Given the description of an element on the screen output the (x, y) to click on. 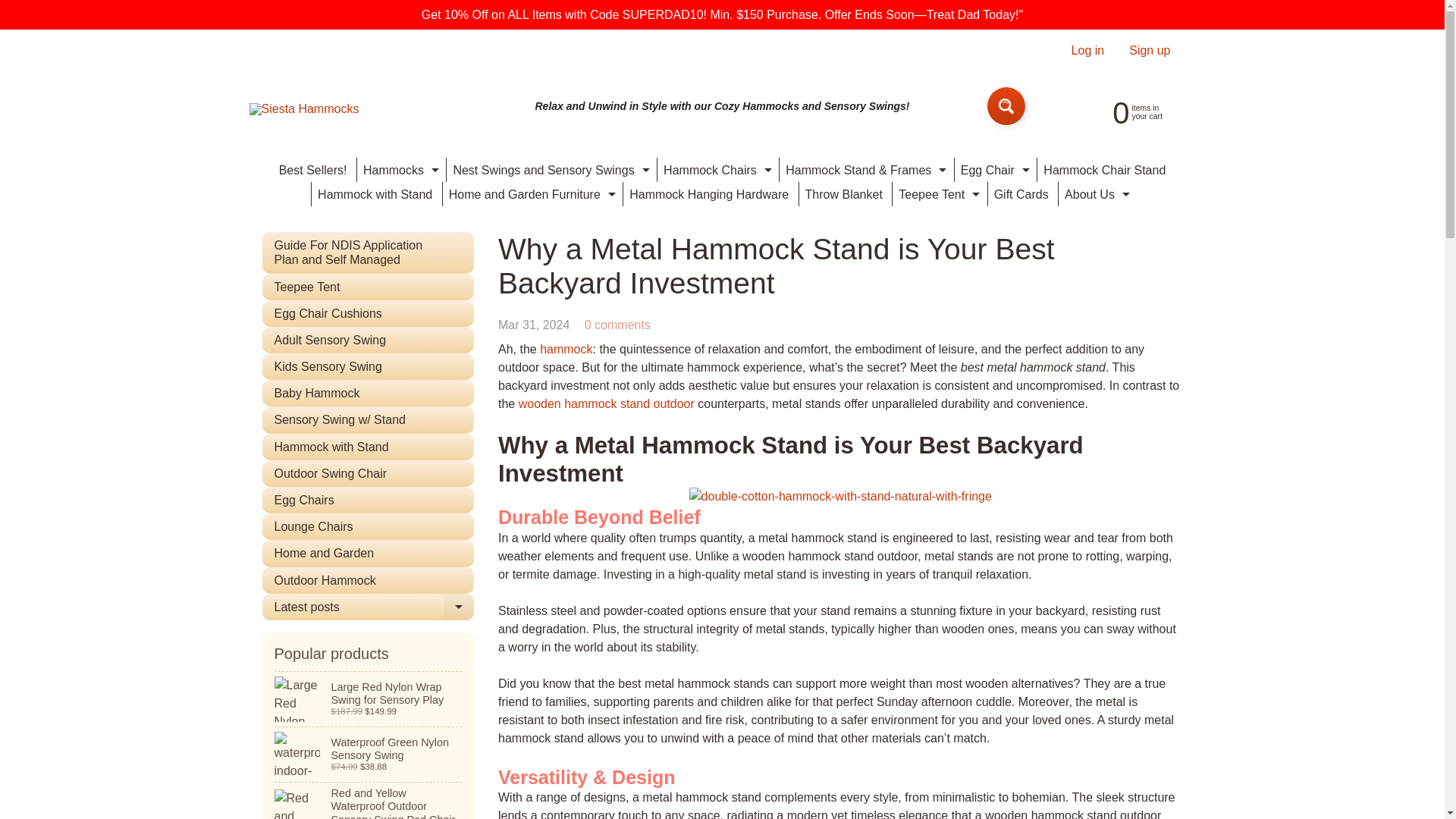
Siesta Hammocks (303, 109)
Best Sellers! (313, 169)
Skip to content (22, 8)
Search (1006, 105)
Sign up (1149, 50)
Log in (1122, 111)
Large Red Nylon Wrap Swing for Sensory Play (549, 169)
Red and Yellow Waterproof Outdoor Sensory Swing Pod Chair (1088, 50)
